Given the description of an element on the screen output the (x, y) to click on. 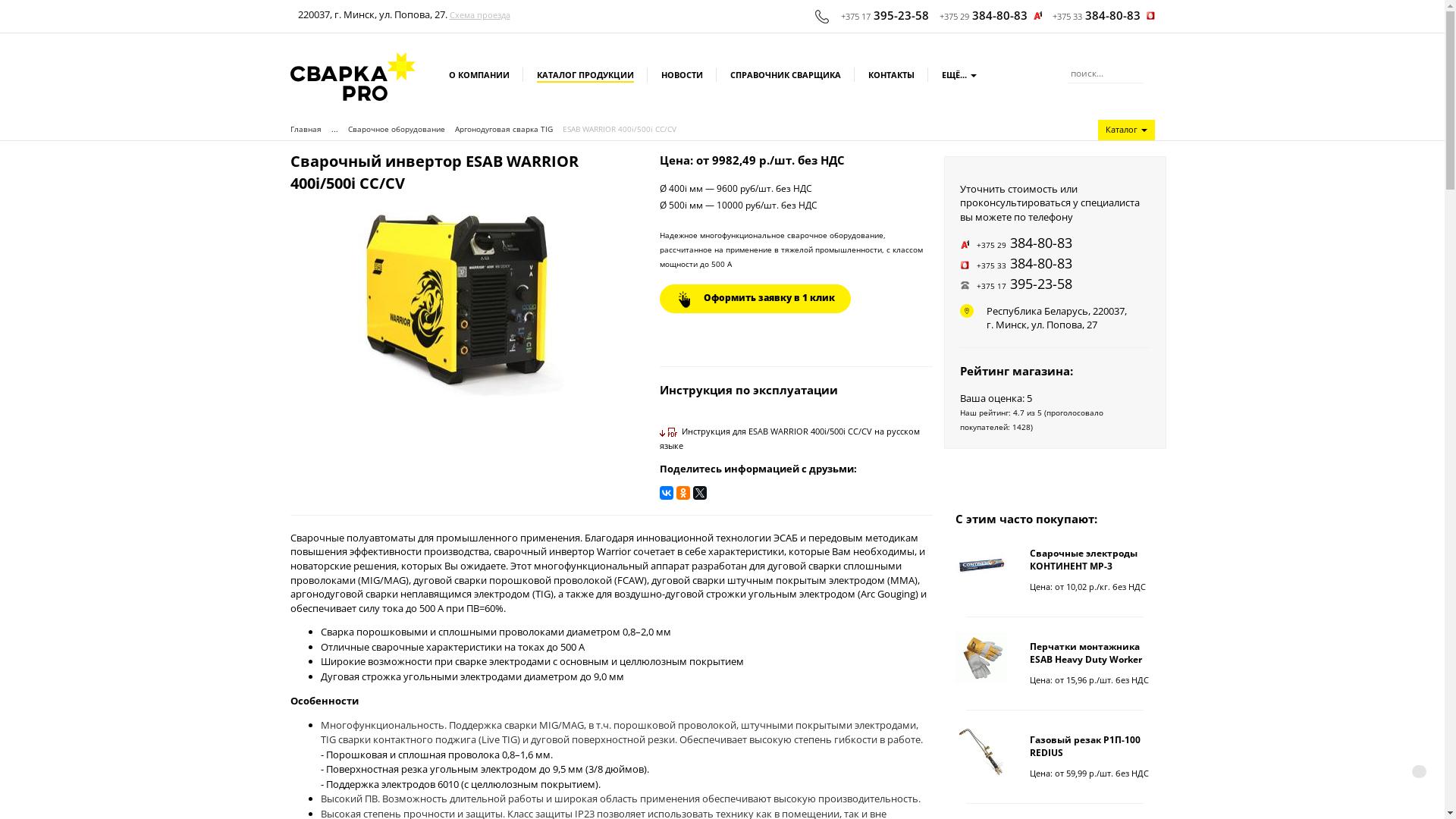
Twitter Element type: hover (699, 492)
